Given the description of an element on the screen output the (x, y) to click on. 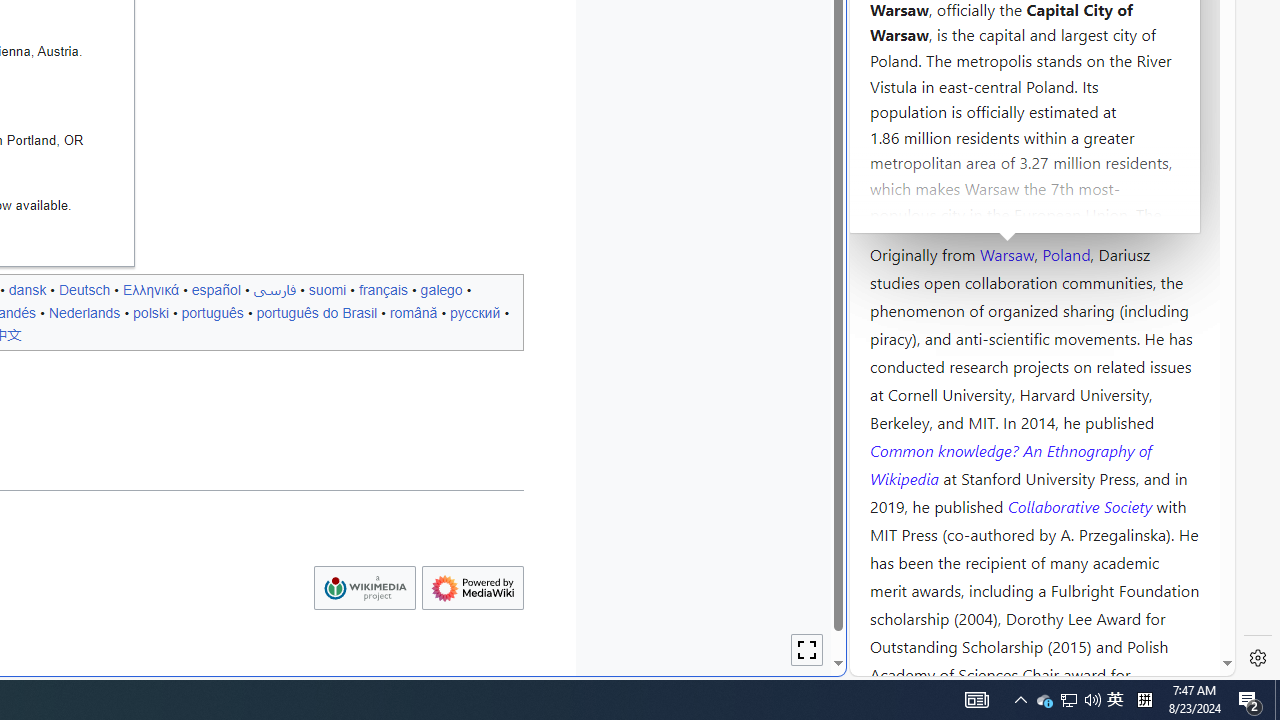
AutomationID: footer-copyrightico (364, 588)
Kozminski University (1034, 136)
Powered by MediaWiki (472, 588)
Wikimedia Foundation (364, 588)
dansk (27, 289)
